Given the description of an element on the screen output the (x, y) to click on. 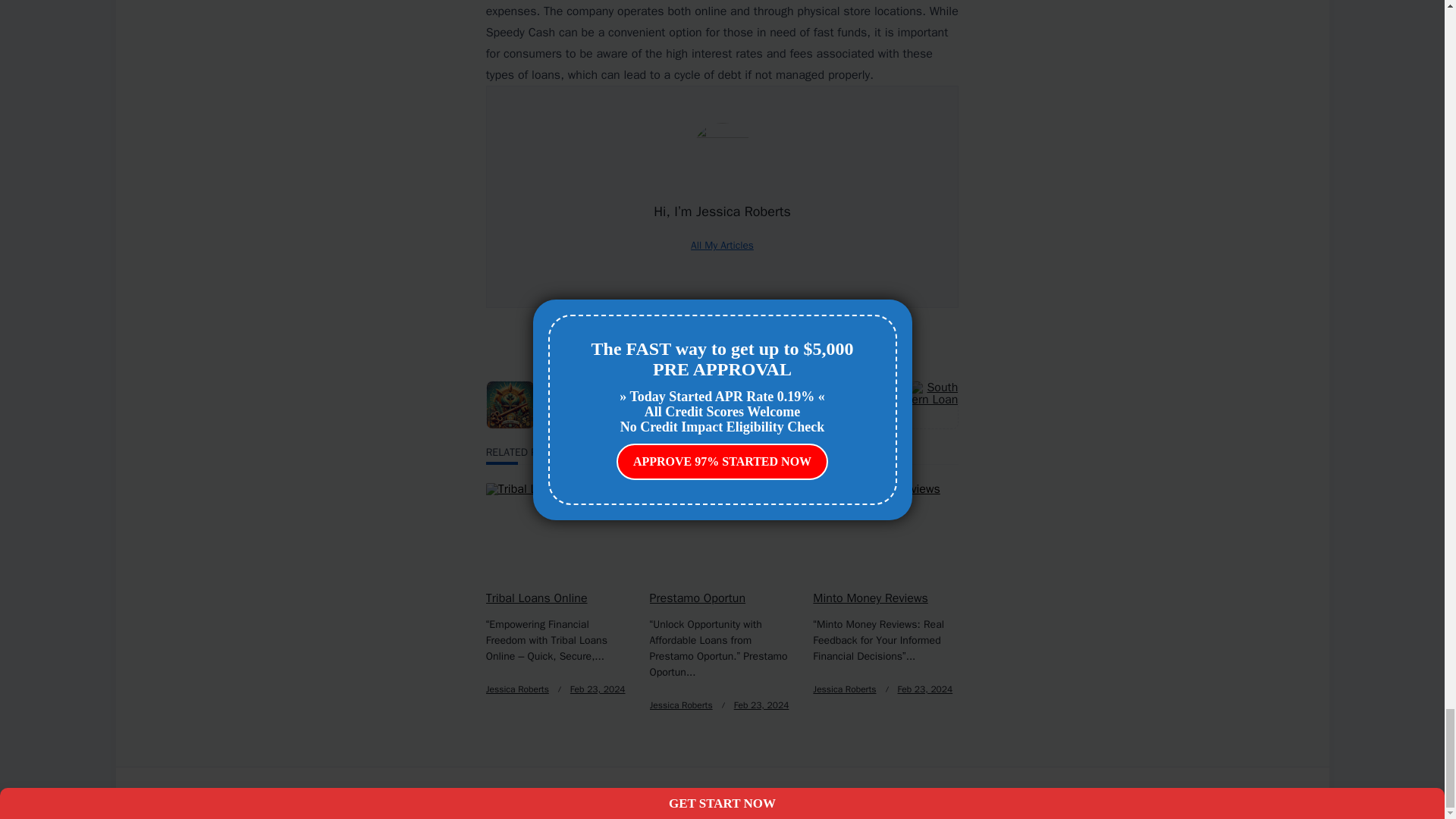
Feb 23, 2024 (925, 689)
Minto Money Reviews (869, 598)
Feb 23, 2024 (598, 689)
Jessica Roberts (517, 689)
Kenta Writer Hub (536, 792)
Prestamo Oportun (697, 598)
Tribal Loans Online (537, 598)
Feb 23, 2024 (761, 705)
Jessica Roberts (844, 689)
All My Articles (722, 245)
WP Moose (615, 792)
Jessica Roberts (681, 705)
